Given the description of an element on the screen output the (x, y) to click on. 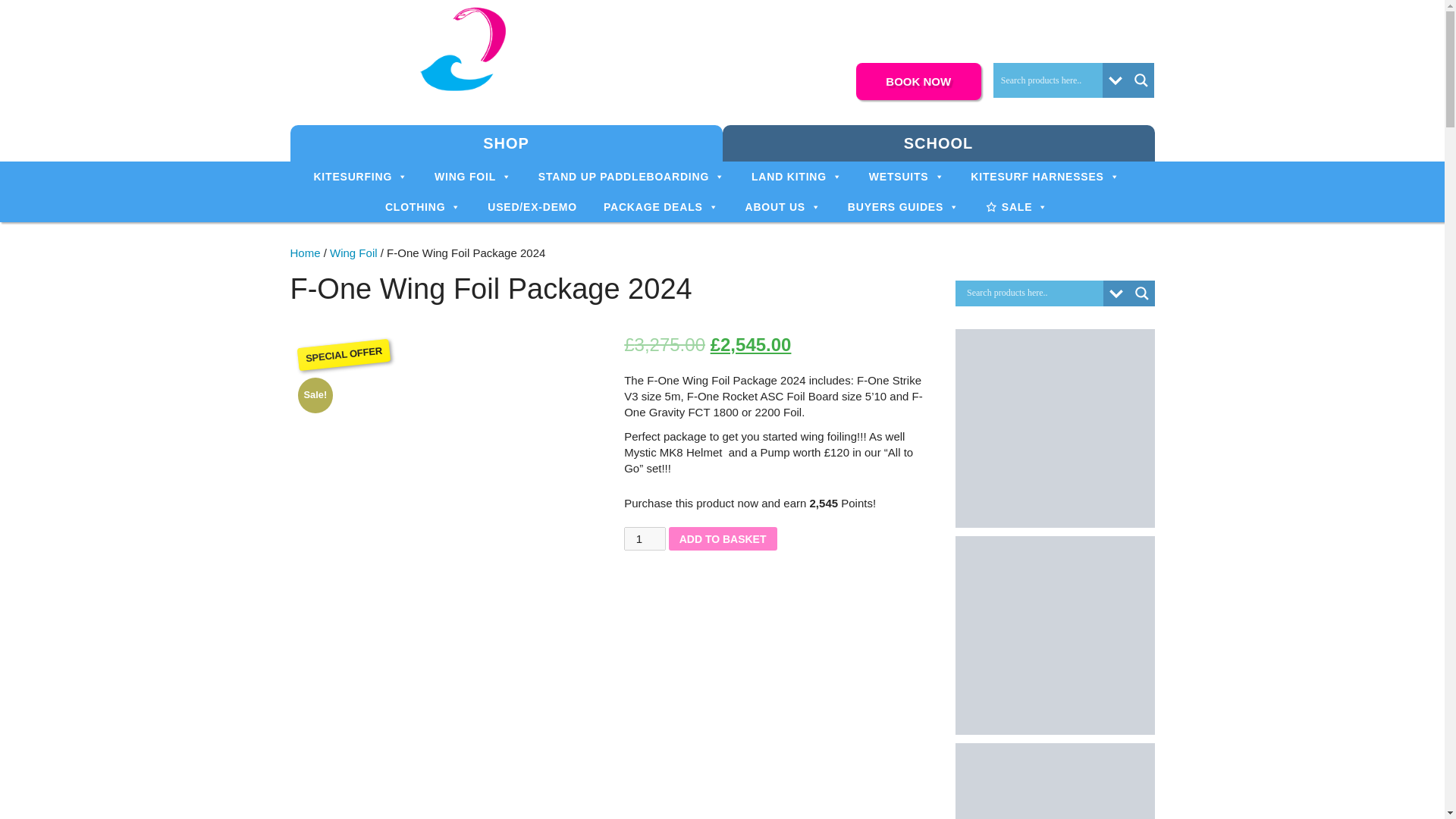
HOME (873, 16)
1 (644, 538)
CONTACT US (1075, 16)
SCHOOL (938, 143)
SHOP (505, 143)
BOOK NOW (918, 81)
